Given the description of an element on the screen output the (x, y) to click on. 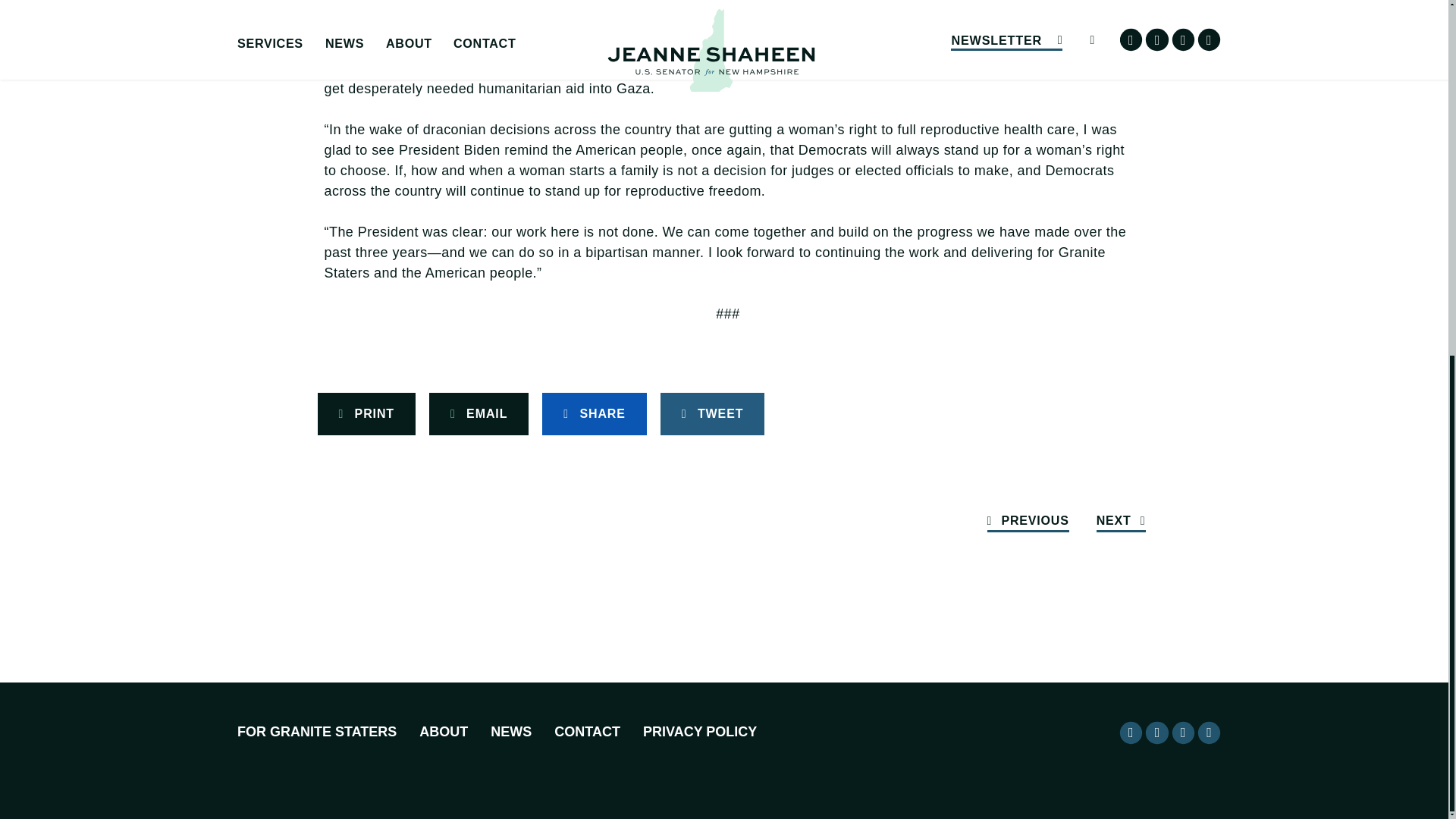
Contact (587, 732)
For Granite Staters (316, 732)
About (443, 732)
PRINT (365, 413)
News (510, 732)
Privacy Policy (700, 732)
EMAIL (478, 413)
